Given the description of an element on the screen output the (x, y) to click on. 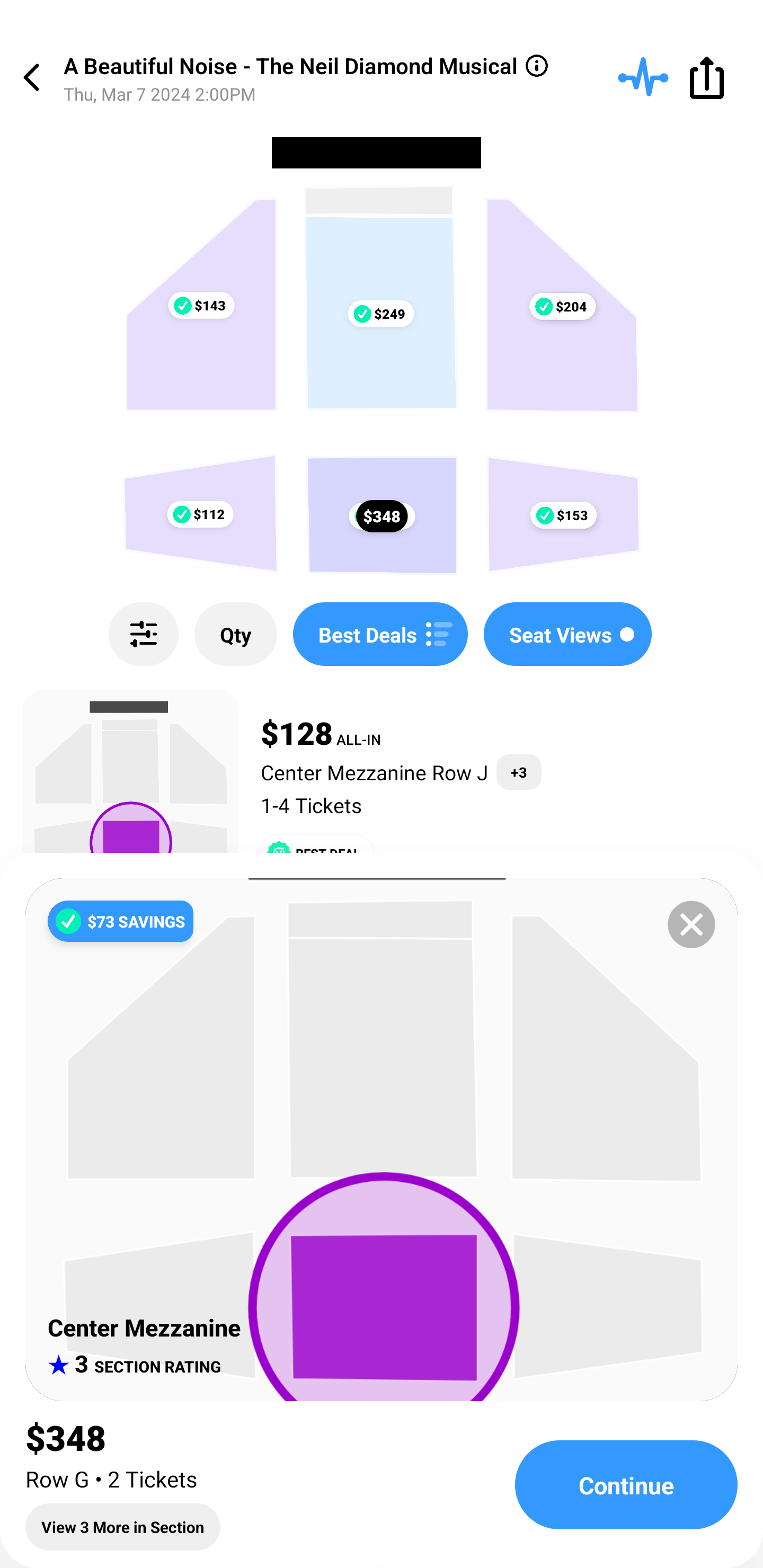
$249 (380, 313)
Qty (235, 634)
Best Deals (379, 634)
Seat Views (567, 634)
+3 (518, 772)
BEST DEAL (316, 852)
$73 SAVINGS (120, 921)
Continue (626, 1484)
View 3 More in Section (122, 1526)
